Given the description of an element on the screen output the (x, y) to click on. 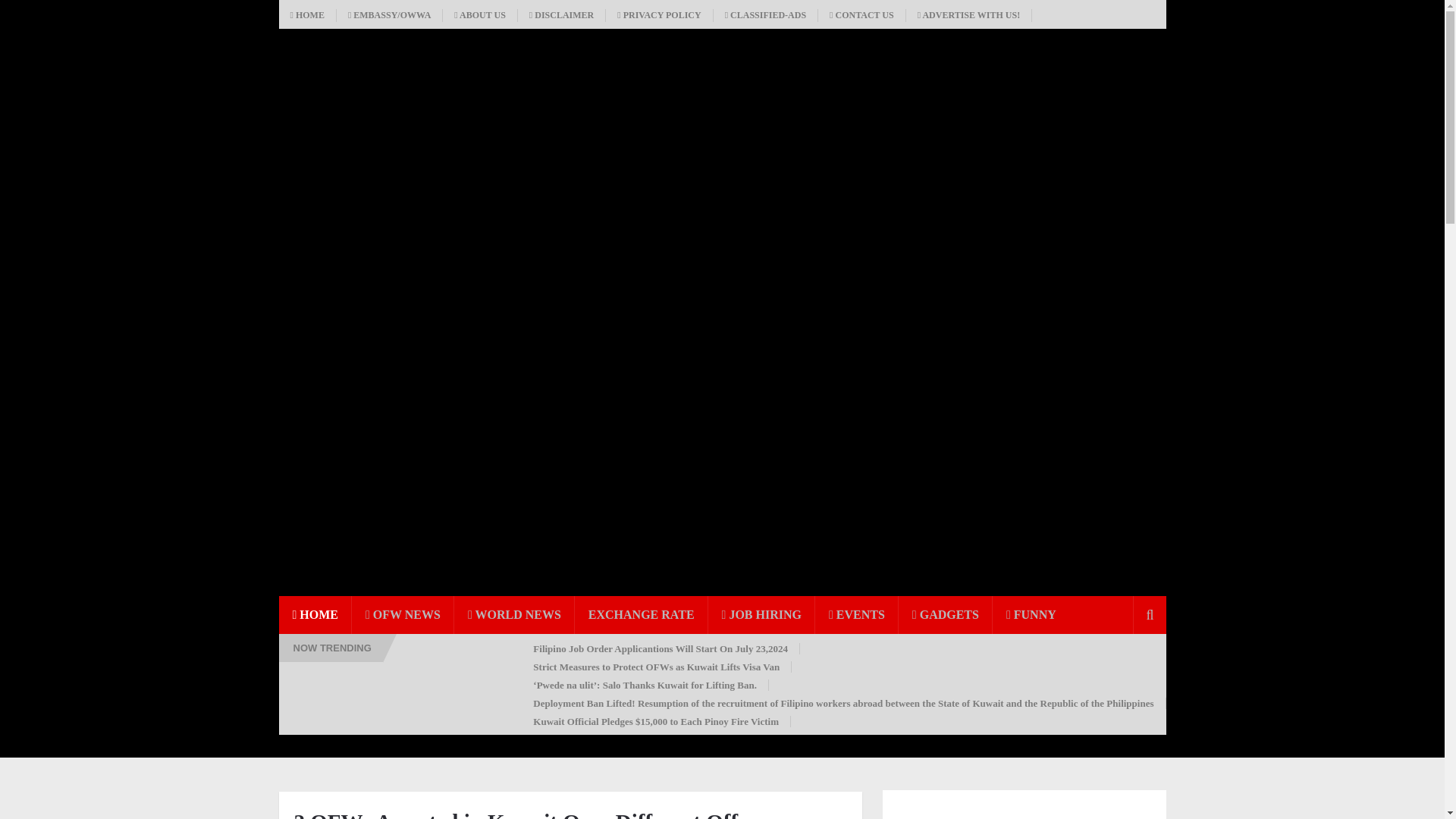
DISCLAIMER (561, 15)
CONTACT US (861, 15)
EXCHANGE RATE (641, 614)
PRIVACY POLICY (659, 15)
ADVERTISE WITH US! (968, 15)
EVENTS (856, 614)
OFW NEWS (403, 614)
FUNNY (1030, 614)
WORLD NEWS (514, 614)
HOME (307, 15)
ABOUT US (480, 15)
CLASSIFIED-ADS (765, 15)
Filipino Job Order Applicantions Will Start On July 23,2024 (660, 648)
Strict Measures to Protect OFWs as Kuwait Lifts Visa Van (656, 666)
